Given the description of an element on the screen output the (x, y) to click on. 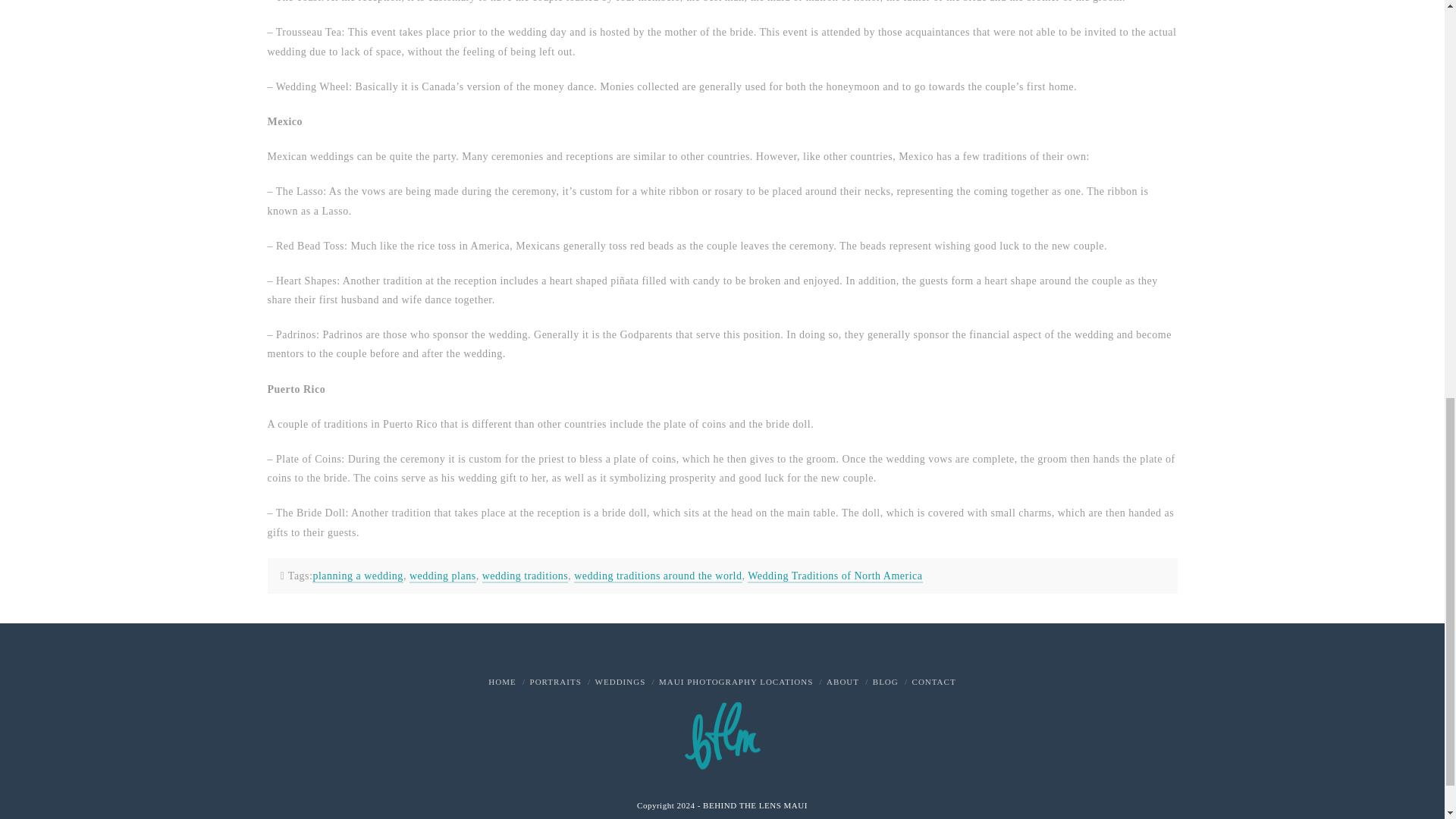
Wedding Traditions of North America (834, 576)
Maui Wedding Photography Home (501, 681)
MAUI PHOTOGRAPHY LOCATIONS (735, 681)
HOME (501, 681)
planning a wedding (358, 576)
PORTRAITS (554, 681)
BLOG (885, 681)
wedding traditions around the world (657, 576)
WEDDINGS (620, 681)
wedding plans (442, 576)
ABOUT (843, 681)
wedding traditions (525, 576)
